Given the description of an element on the screen output the (x, y) to click on. 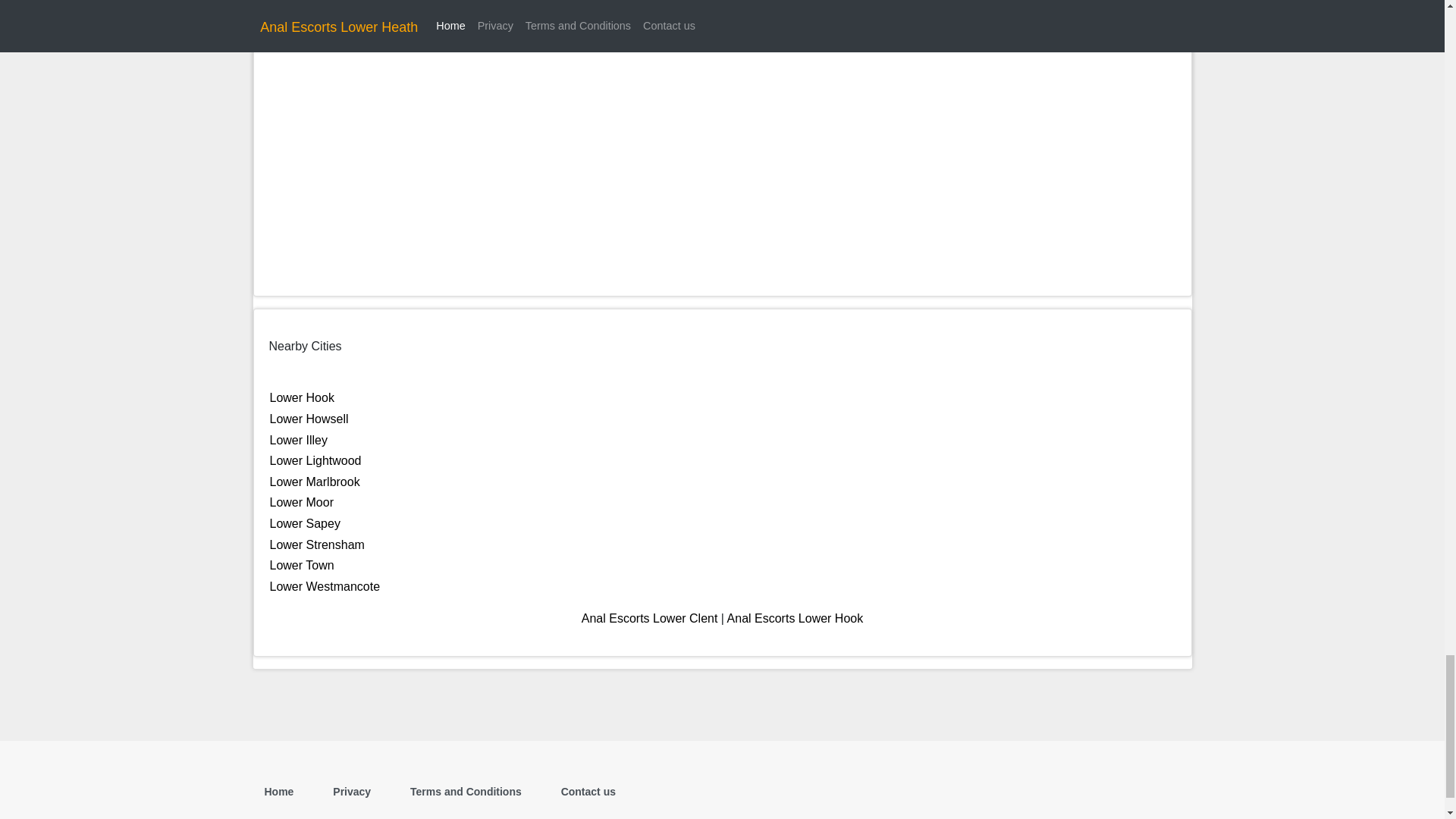
Lower Sapey (304, 522)
Lower Marlbrook (314, 481)
Lower Illey (298, 440)
Lower Hook (301, 397)
Anal Escorts Lower Clent (648, 617)
Lower Westmancote (324, 585)
Lower Howsell (309, 418)
Lower Strensham (317, 544)
Lower Town (301, 564)
Lower Moor (301, 502)
Lower Lightwood (315, 460)
Anal Escorts Lower Hook (794, 617)
